Given the description of an element on the screen output the (x, y) to click on. 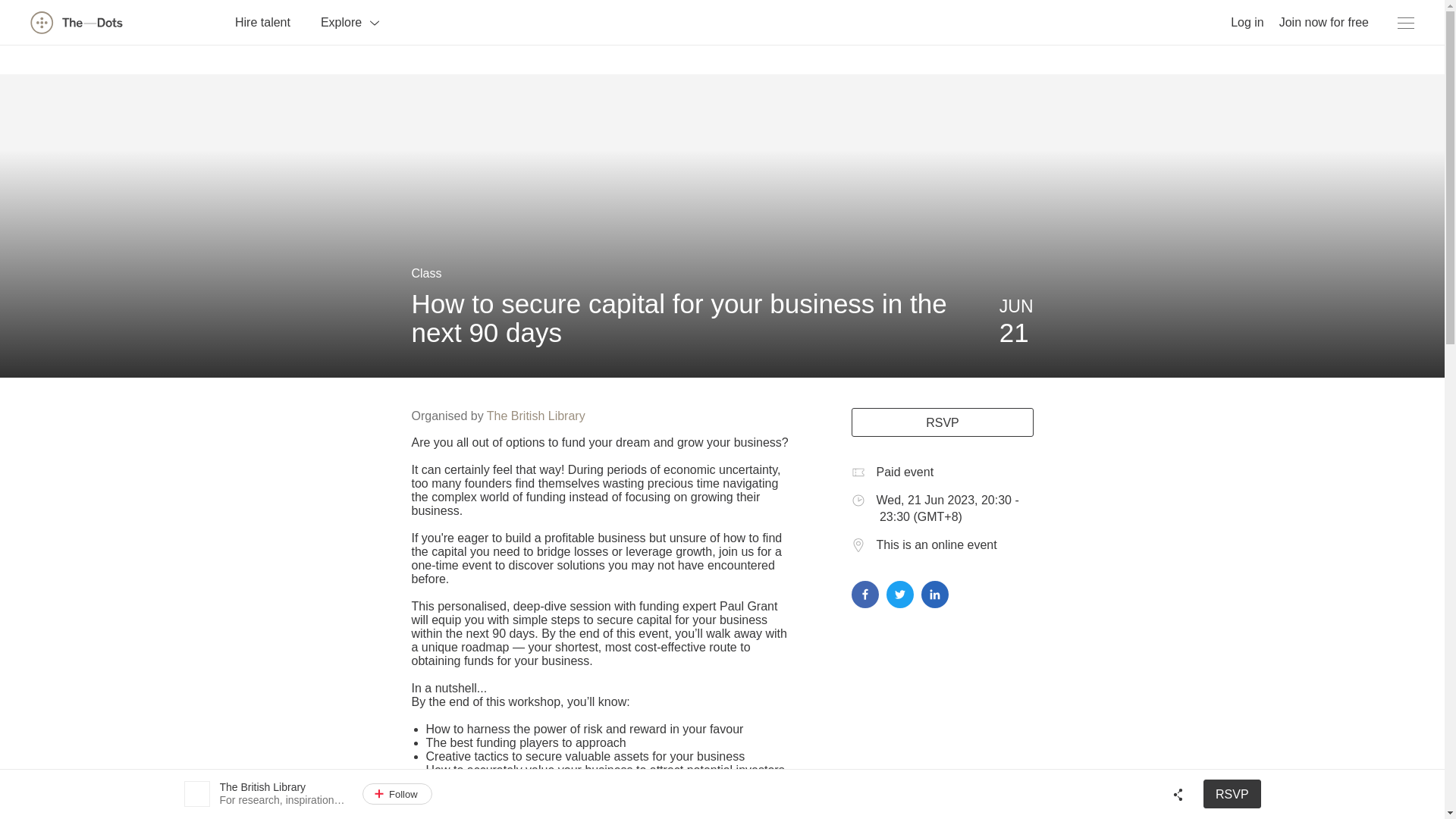
Log in (1246, 21)
Hire talent (261, 21)
Location (857, 545)
How to secure capital for your business in the next 90 days (678, 318)
Ticket (857, 472)
Explore (350, 21)
Join now for free (1323, 21)
Time (857, 499)
The British Library (535, 415)
RSVP (941, 421)
